Given the description of an element on the screen output the (x, y) to click on. 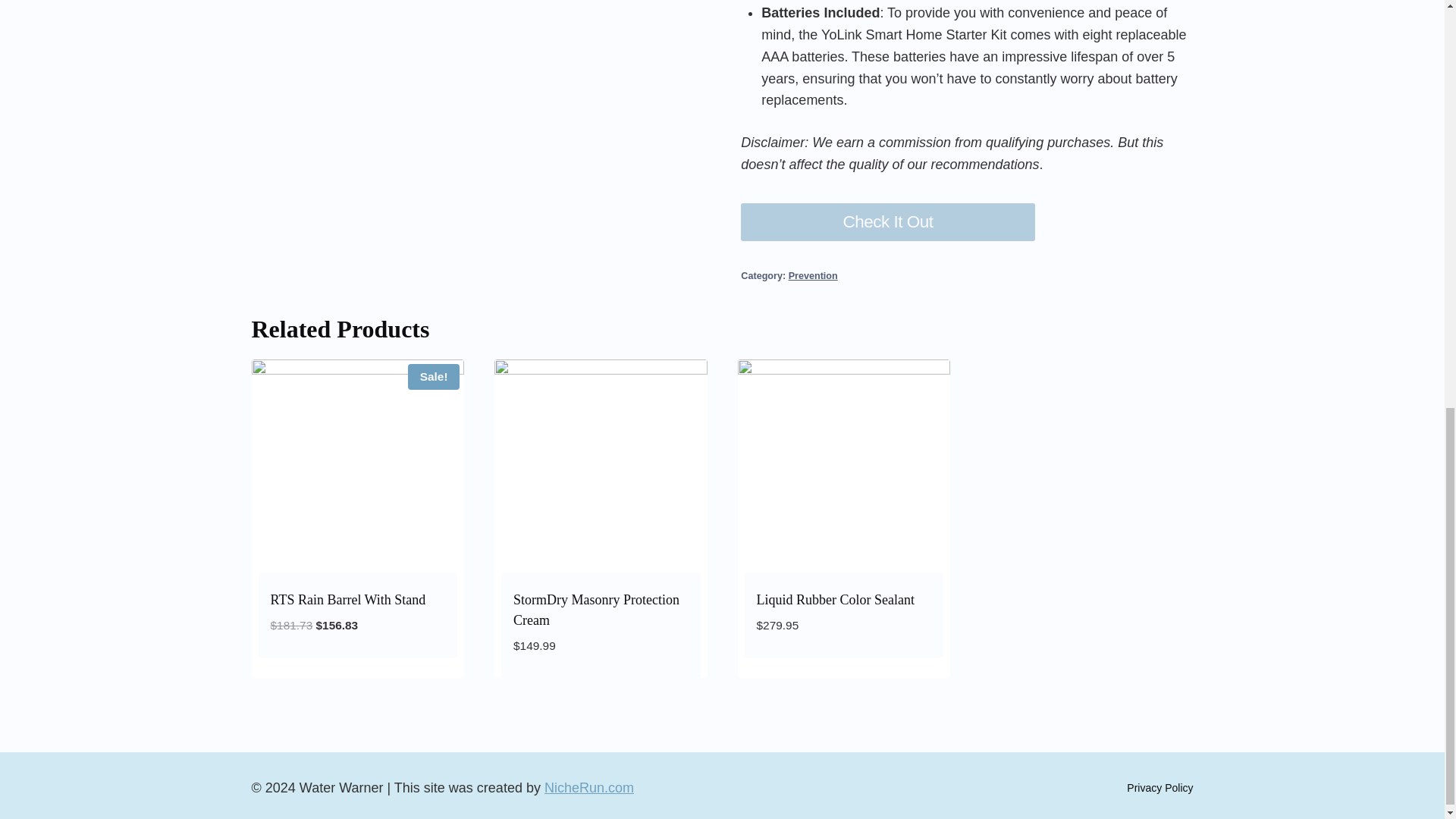
Liquid Rubber Color Sealant (835, 599)
RTS Rain Barrel With Stand (347, 599)
Prevention (813, 276)
Privacy Policy (1159, 787)
NicheRun.com (588, 787)
Check It Out (888, 221)
Sale! (357, 465)
StormDry Masonry Protection Cream (596, 610)
